Given the description of an element on the screen output the (x, y) to click on. 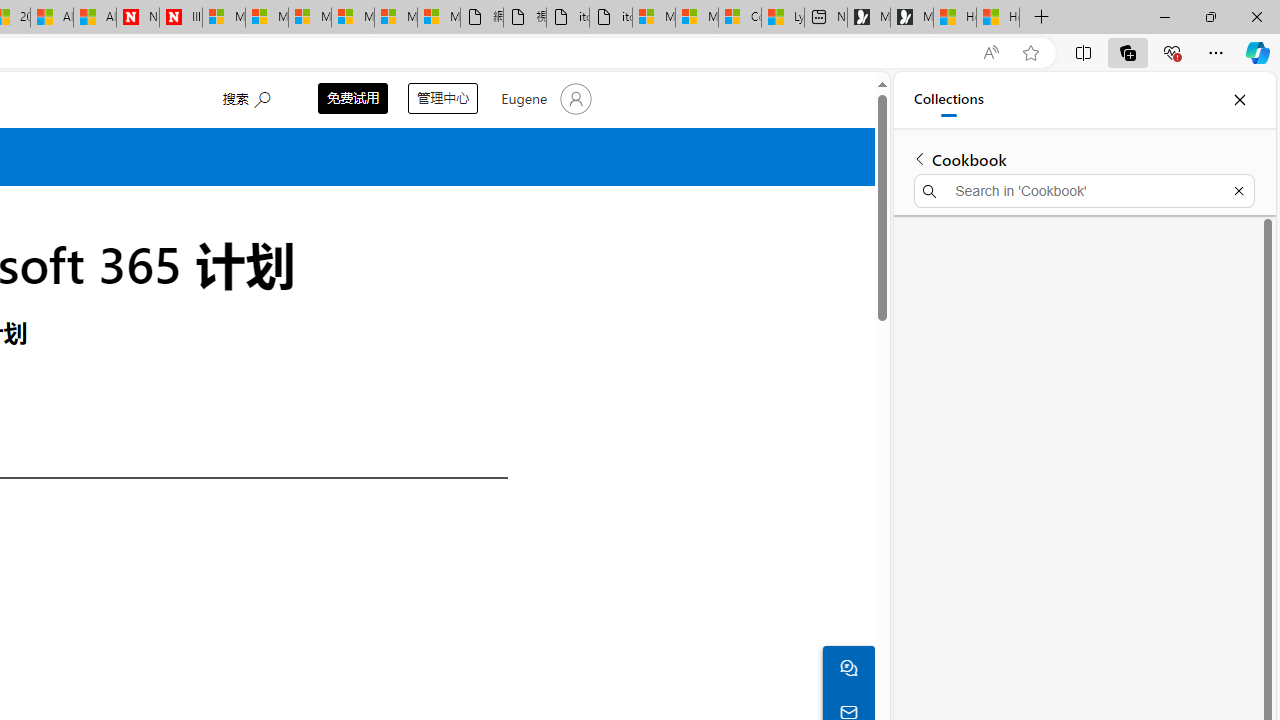
itconcepthk.com/projector_solutions.mp4 (611, 17)
